Given the description of an element on the screen output the (x, y) to click on. 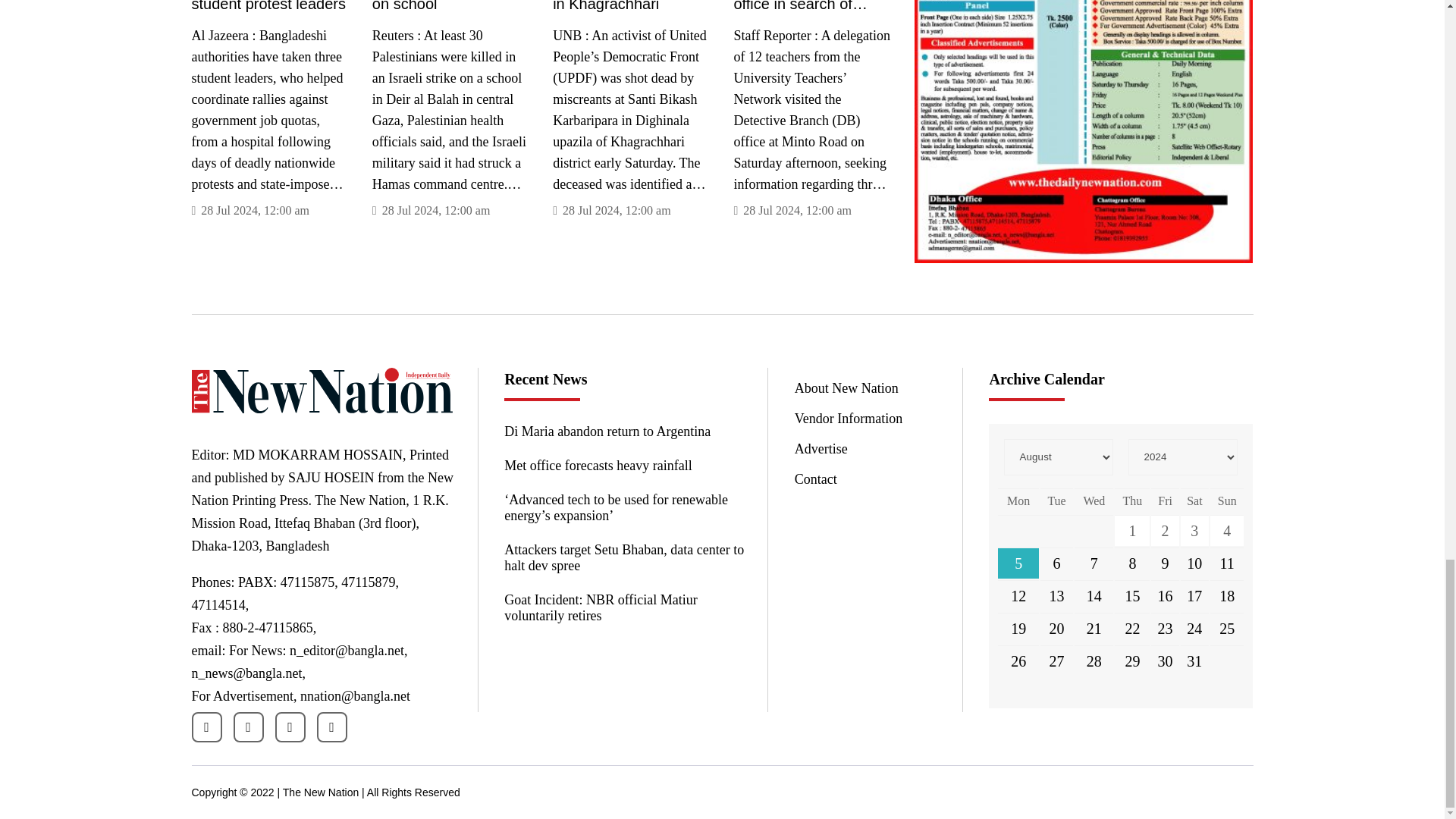
Met office forecasts heavy rainfall (623, 465)
Attackers target Setu Bhaban, data center to halt dev spree (623, 558)
Goat Incident: NBR official Matiur voluntarily retires (623, 608)
Authorities detain student protest leaders (269, 6)
Thursday (1132, 500)
UPDF man shot dead in Khagrachhari (631, 6)
Wednesday (1093, 500)
Saturday (1194, 500)
Tuesday (1057, 500)
Di Maria abandon return to Argentina (623, 431)
